Given the description of an element on the screen output the (x, y) to click on. 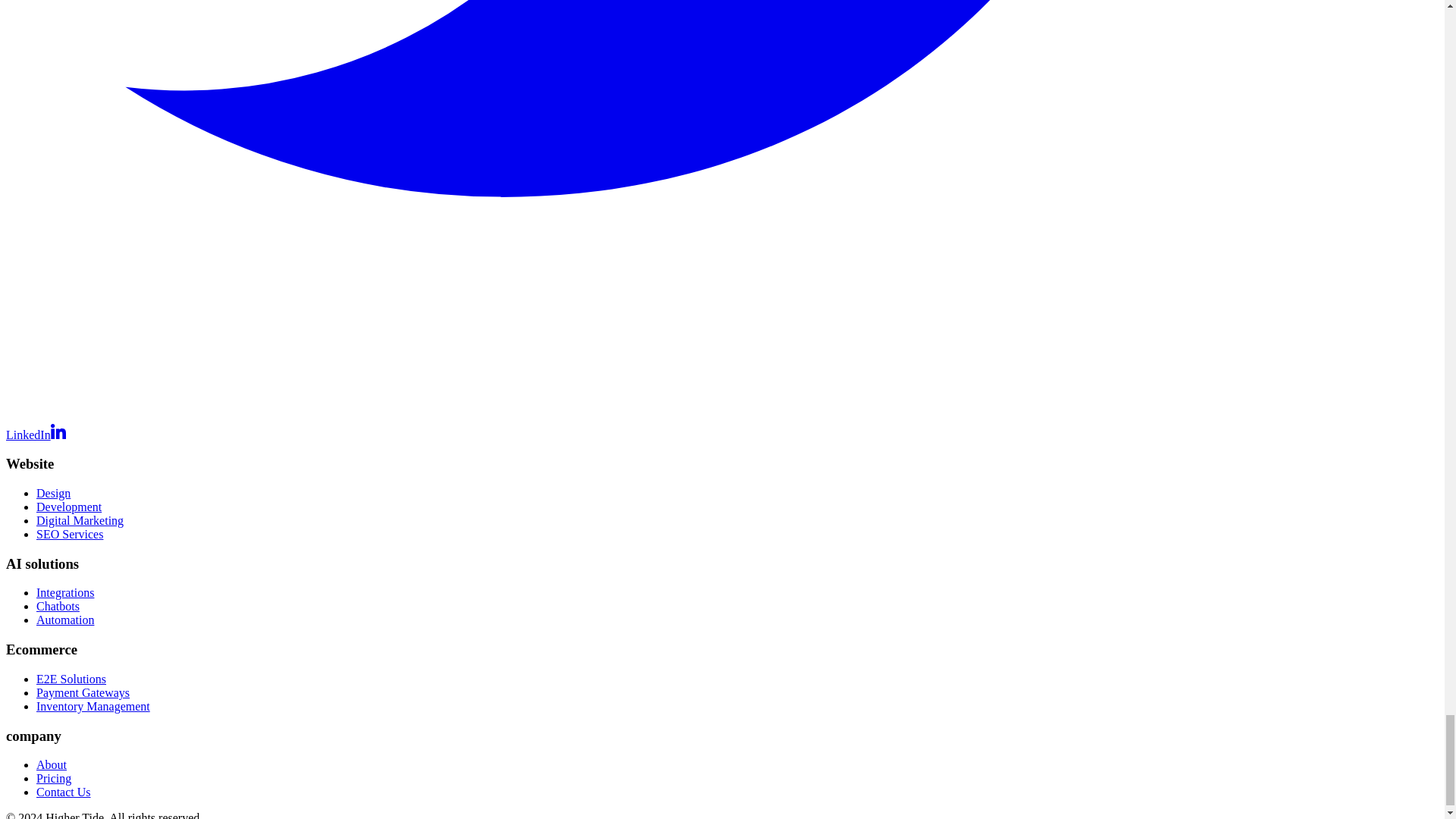
Design (52, 492)
Automation (65, 619)
Integrations (65, 592)
Inventory Management (92, 706)
Development (68, 506)
Digital Marketing (79, 520)
SEO Services (69, 533)
Payment Gateways (82, 692)
About (51, 764)
LinkedIn (35, 434)
Chatbots (58, 605)
E2E Solutions (71, 678)
